Given the description of an element on the screen output the (x, y) to click on. 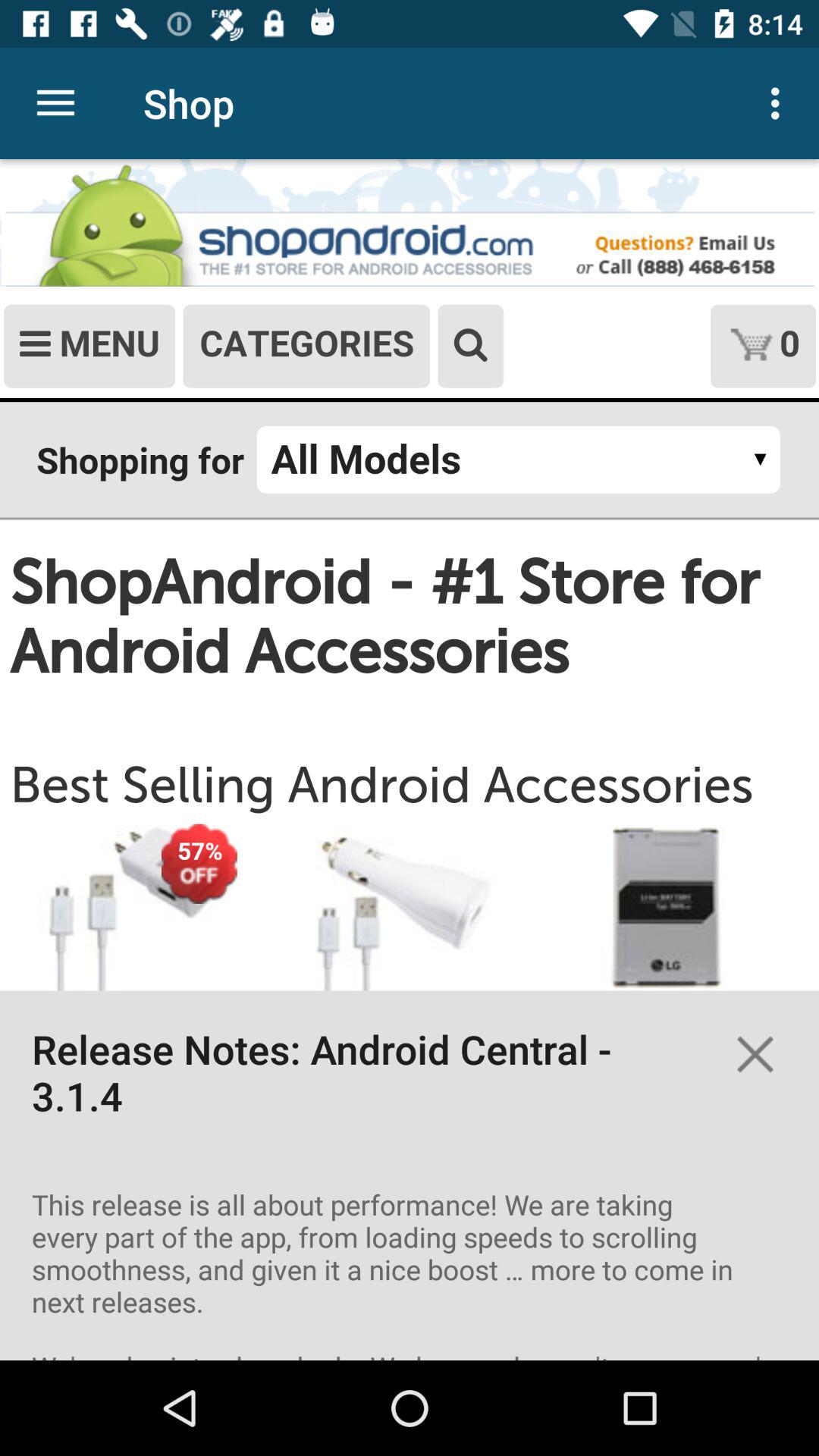
open page (409, 759)
